Given the description of an element on the screen output the (x, y) to click on. 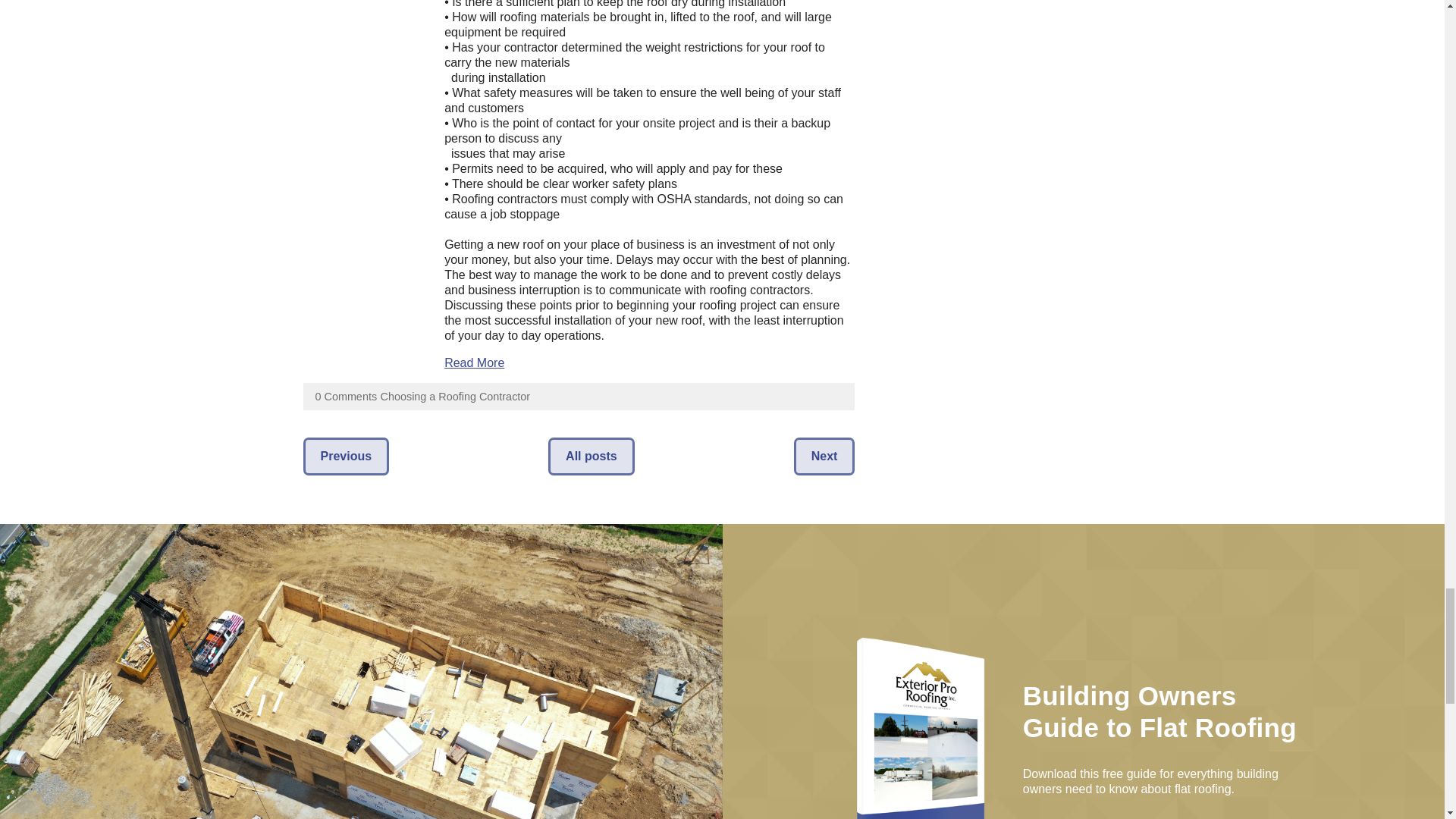
The-Building-Owners-guide-to-Flat-Roofing-3D-Cover (924, 728)
